Given the description of an element on the screen output the (x, y) to click on. 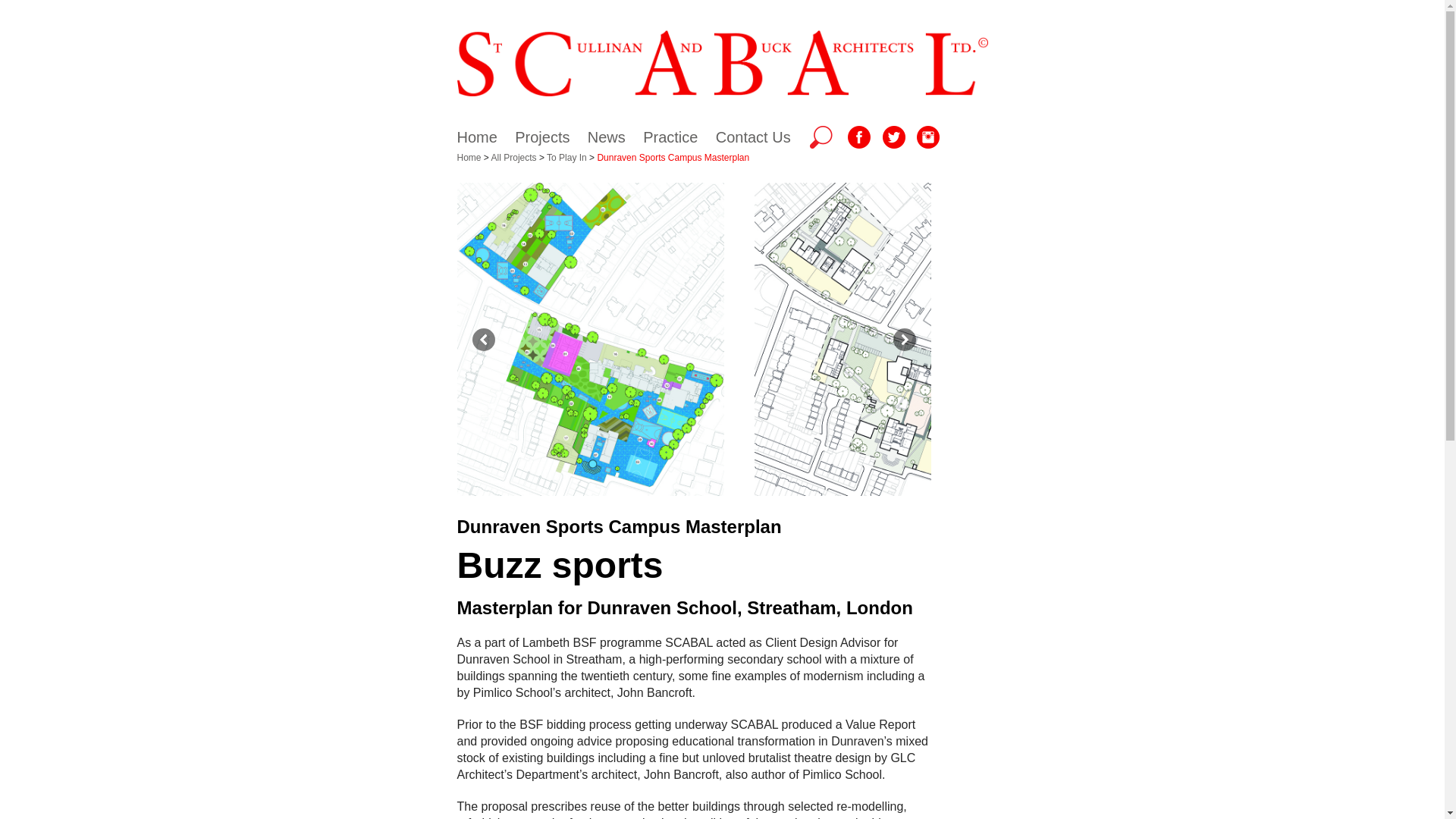
Projects (542, 136)
News (607, 136)
Practice (670, 136)
Home (476, 136)
